Given the description of an element on the screen output the (x, y) to click on. 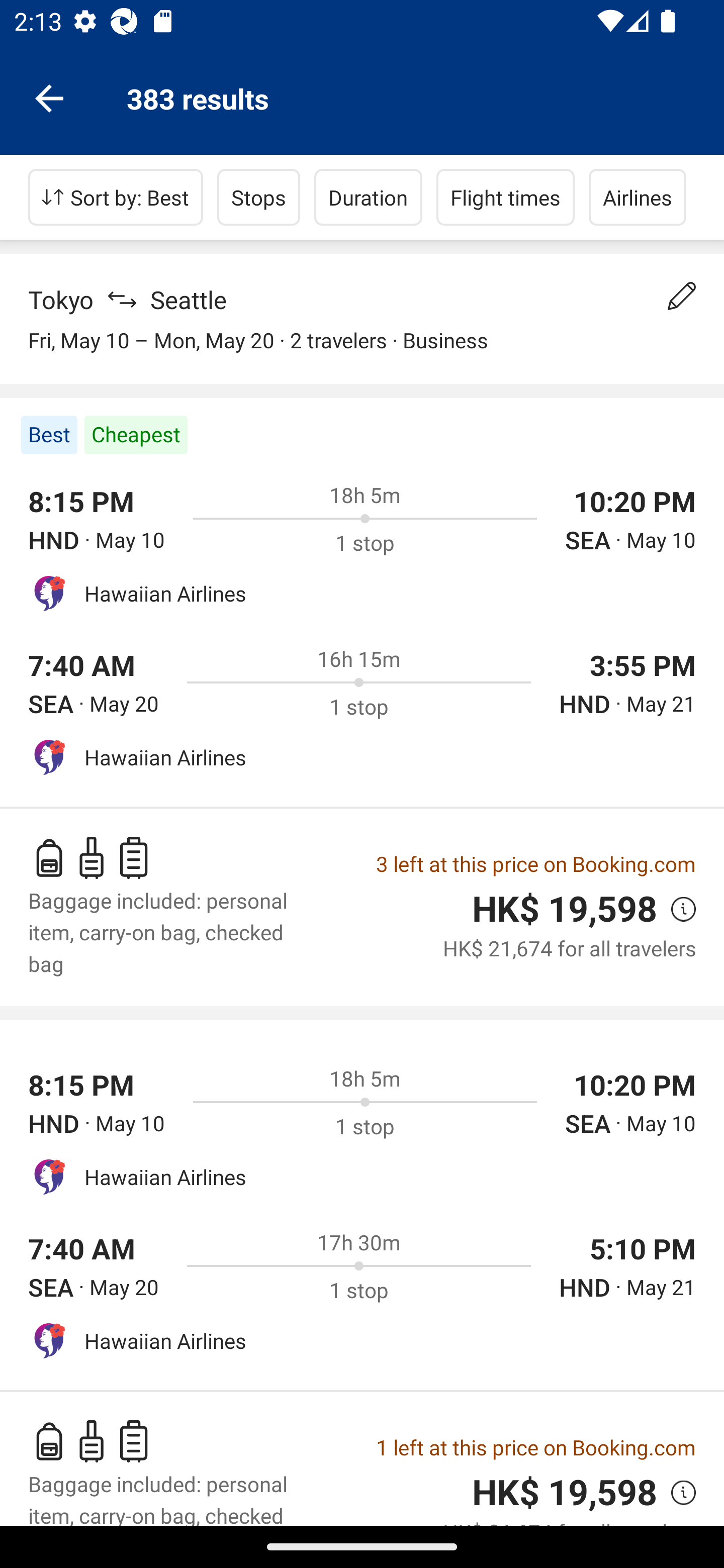
Navigate up (49, 97)
Sort by: Best (115, 197)
Stops (258, 197)
Duration (368, 197)
Flight times (505, 197)
Airlines (637, 197)
Change your search details (681, 296)
HK$ 19,598 (564, 909)
view price details, opens a pop-up (676, 908)
HK$ 19,598 (564, 1492)
view price details, opens a pop-up (676, 1491)
